Given the description of an element on the screen output the (x, y) to click on. 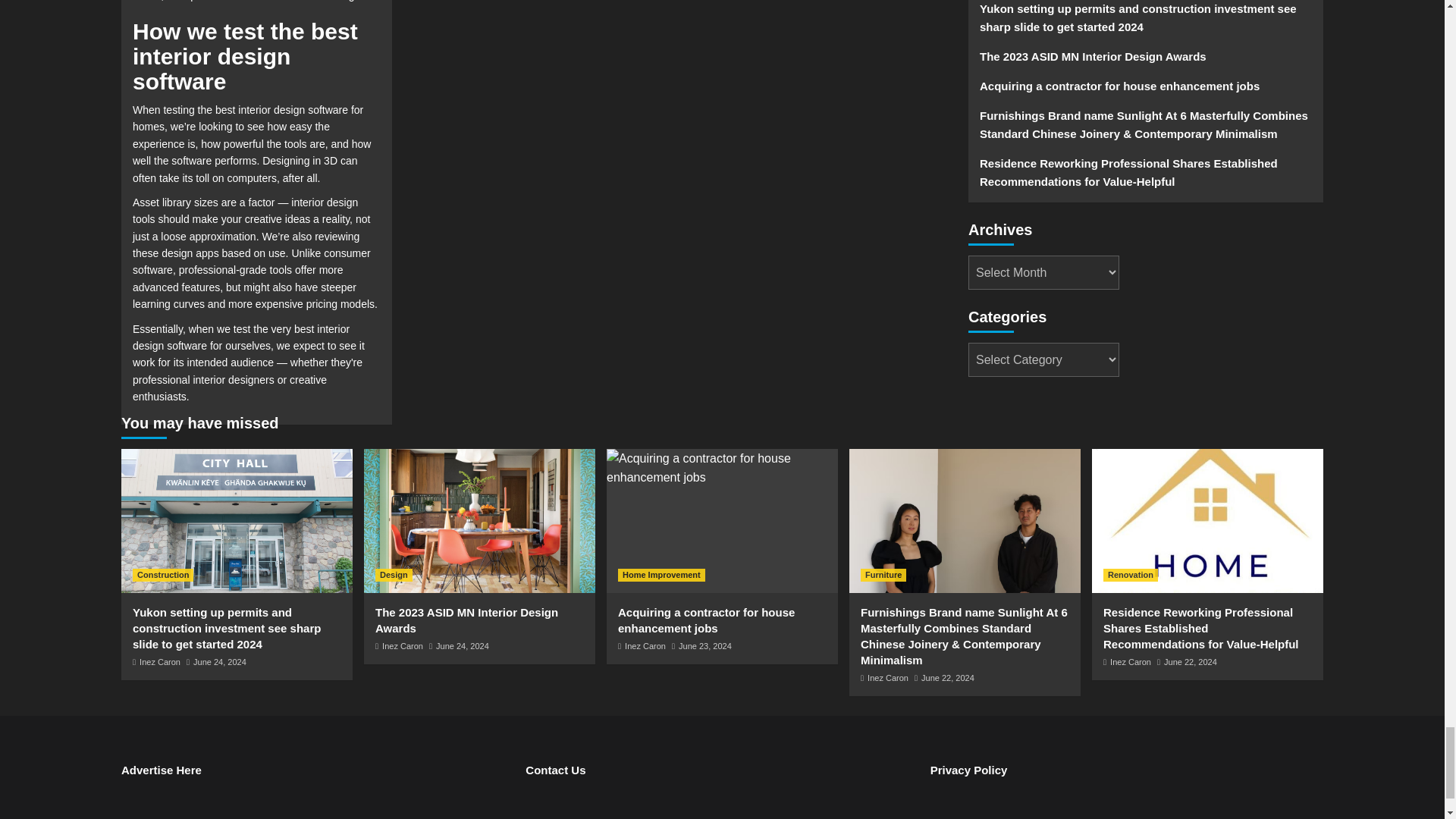
Acquiring a contractor for house enhancement jobs (722, 467)
The 2023 ASID MN Interior Design Awards (479, 520)
